Given the description of an element on the screen output the (x, y) to click on. 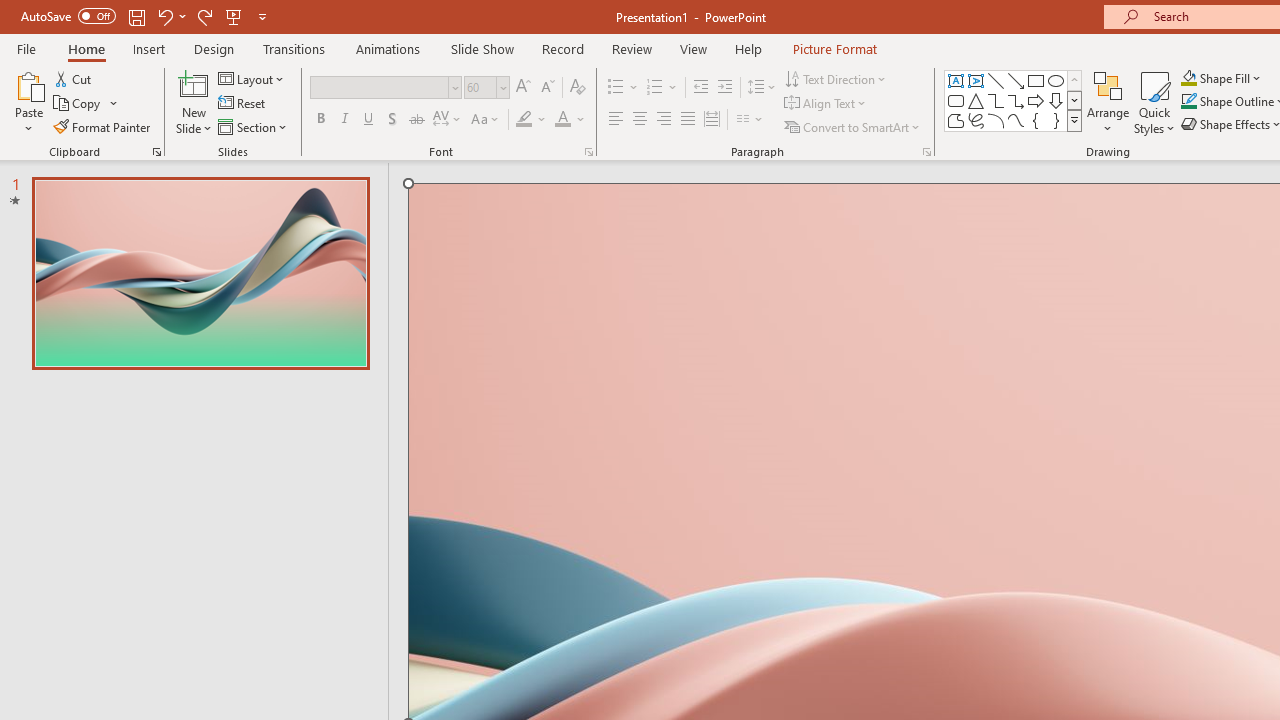
Picture Format (834, 48)
